Given the description of an element on the screen output the (x, y) to click on. 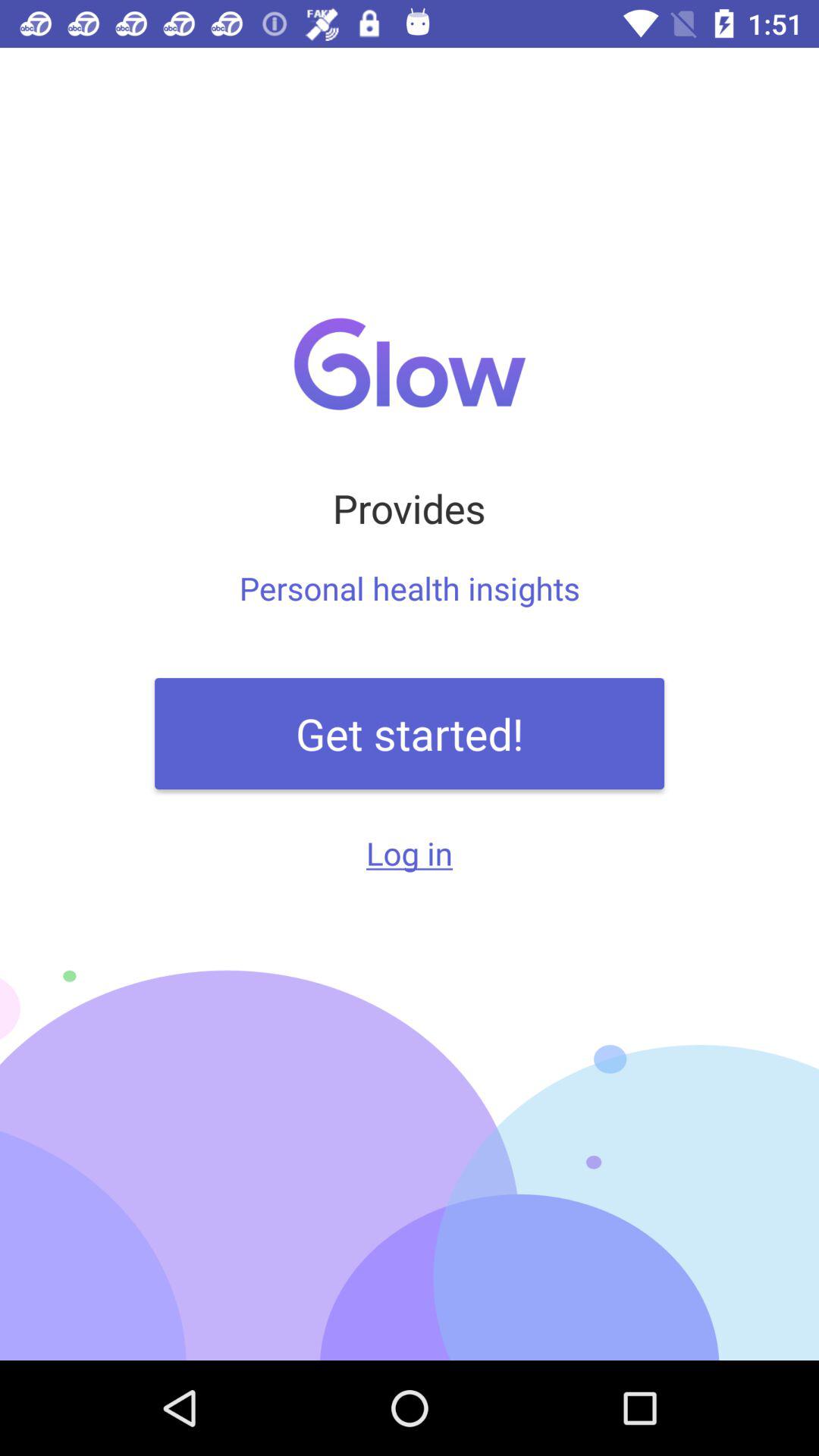
turn on the item above log in (409, 733)
